Given the description of an element on the screen output the (x, y) to click on. 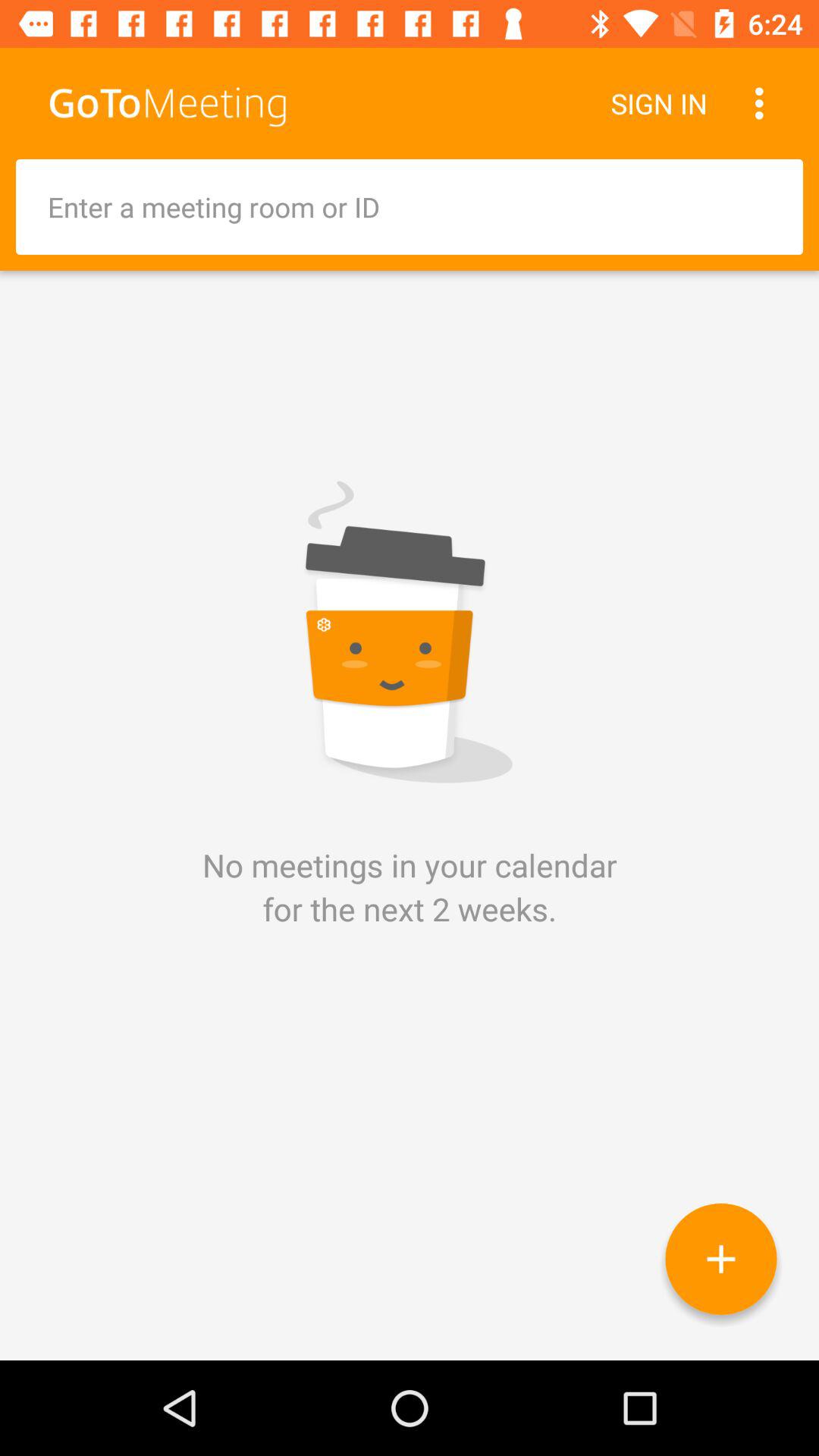
add calendar meeting (720, 1258)
